Given the description of an element on the screen output the (x, y) to click on. 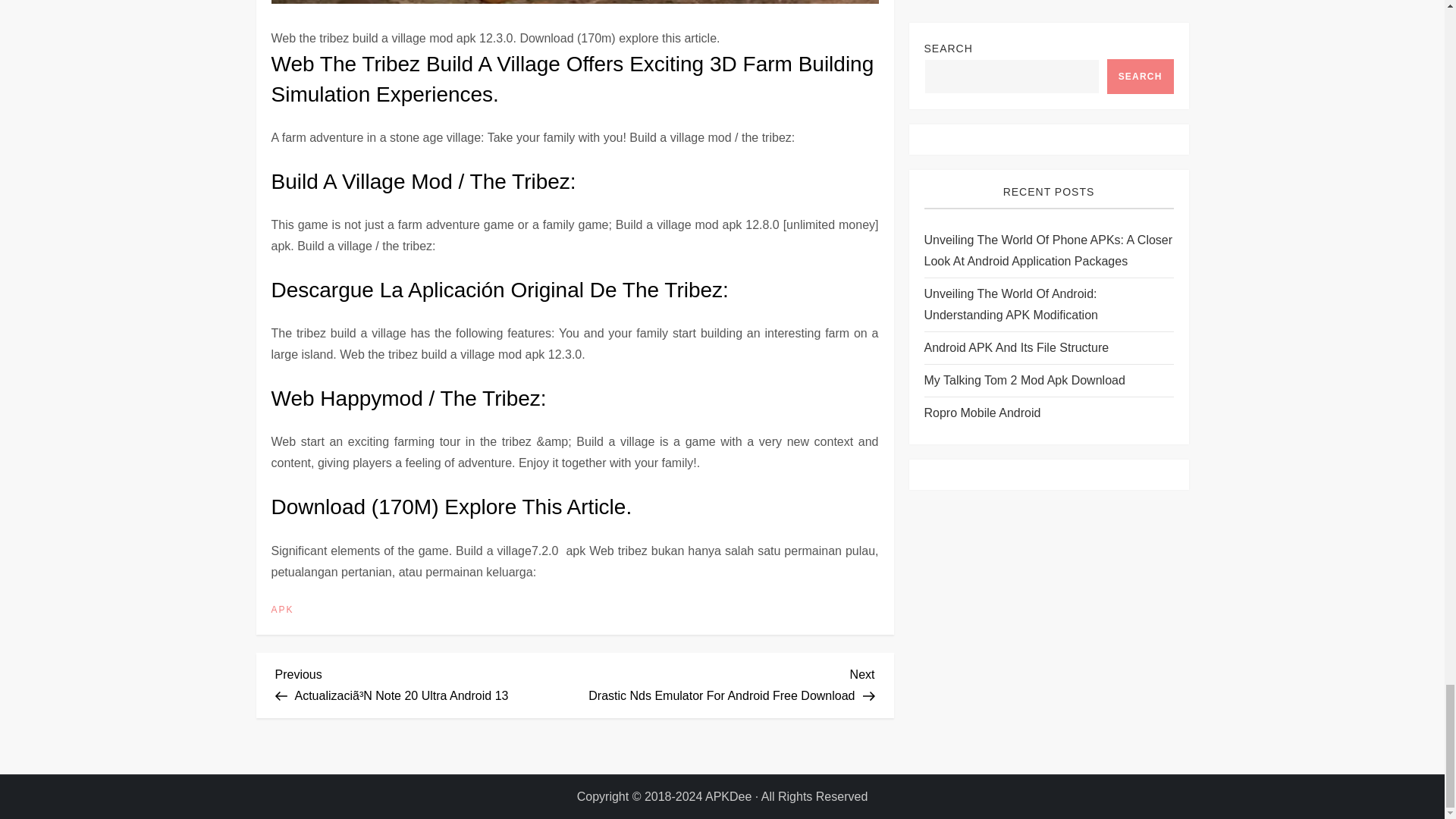
APK (282, 609)
